Given the description of an element on the screen output the (x, y) to click on. 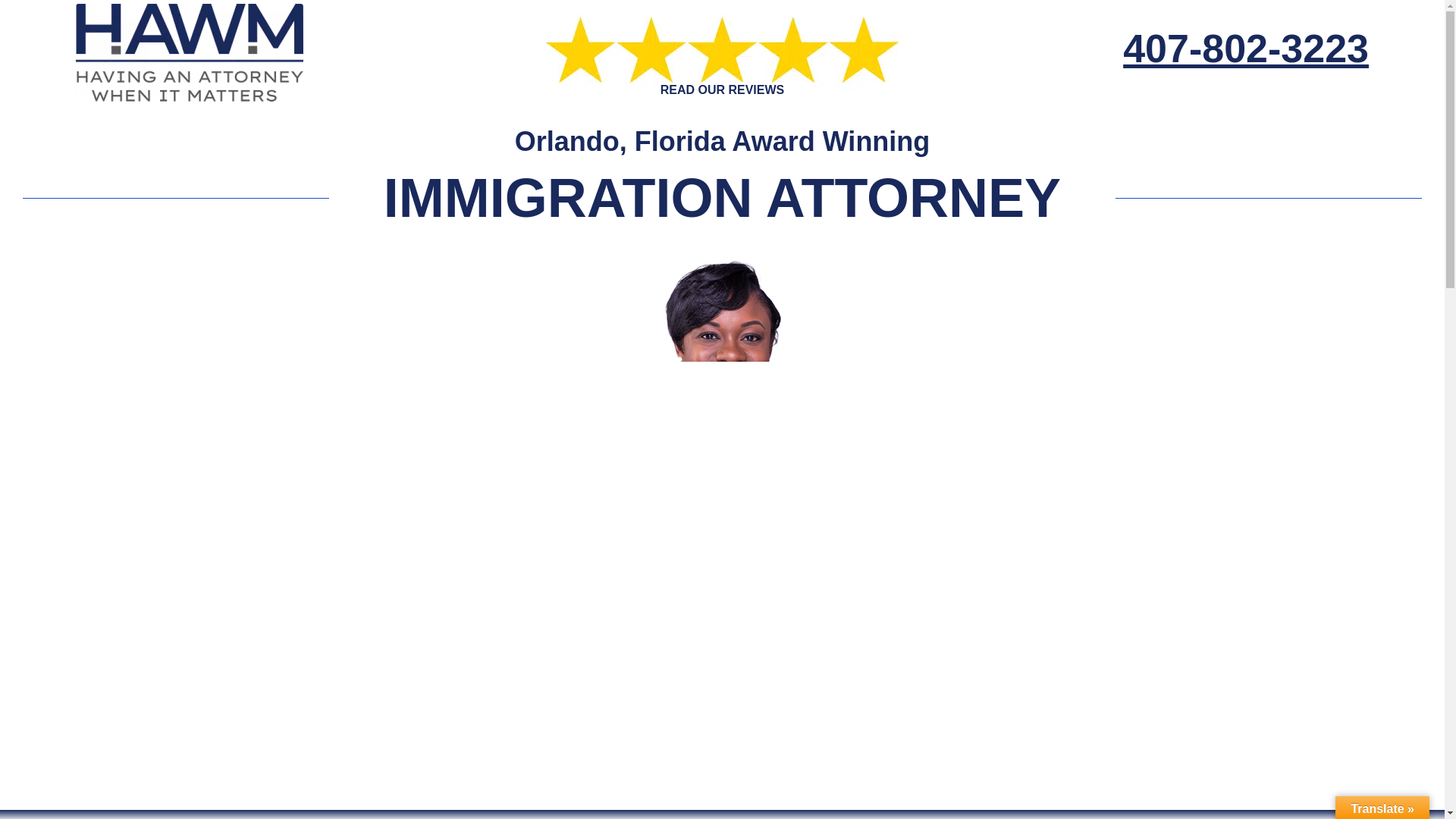
407-802-3223 (1245, 48)
HAWM Law - Having An Attorney When It Matters (188, 52)
5Stars (722, 49)
READ OUR REVIEWS (722, 89)
